Given the description of an element on the screen output the (x, y) to click on. 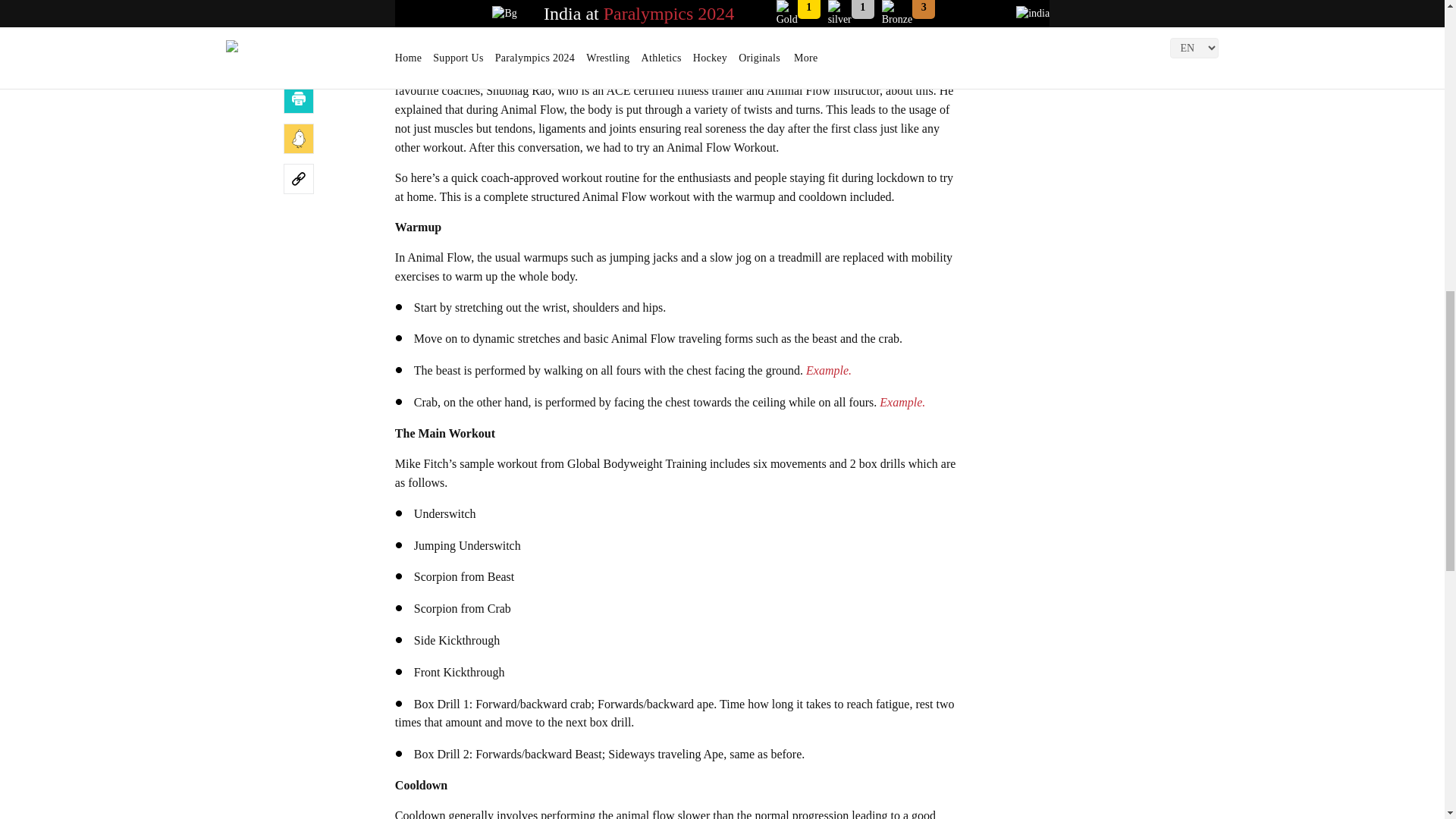
Share by Email (298, 58)
Beast (828, 369)
Crab (901, 401)
LinkedIn (298, 18)
